Given the description of an element on the screen output the (x, y) to click on. 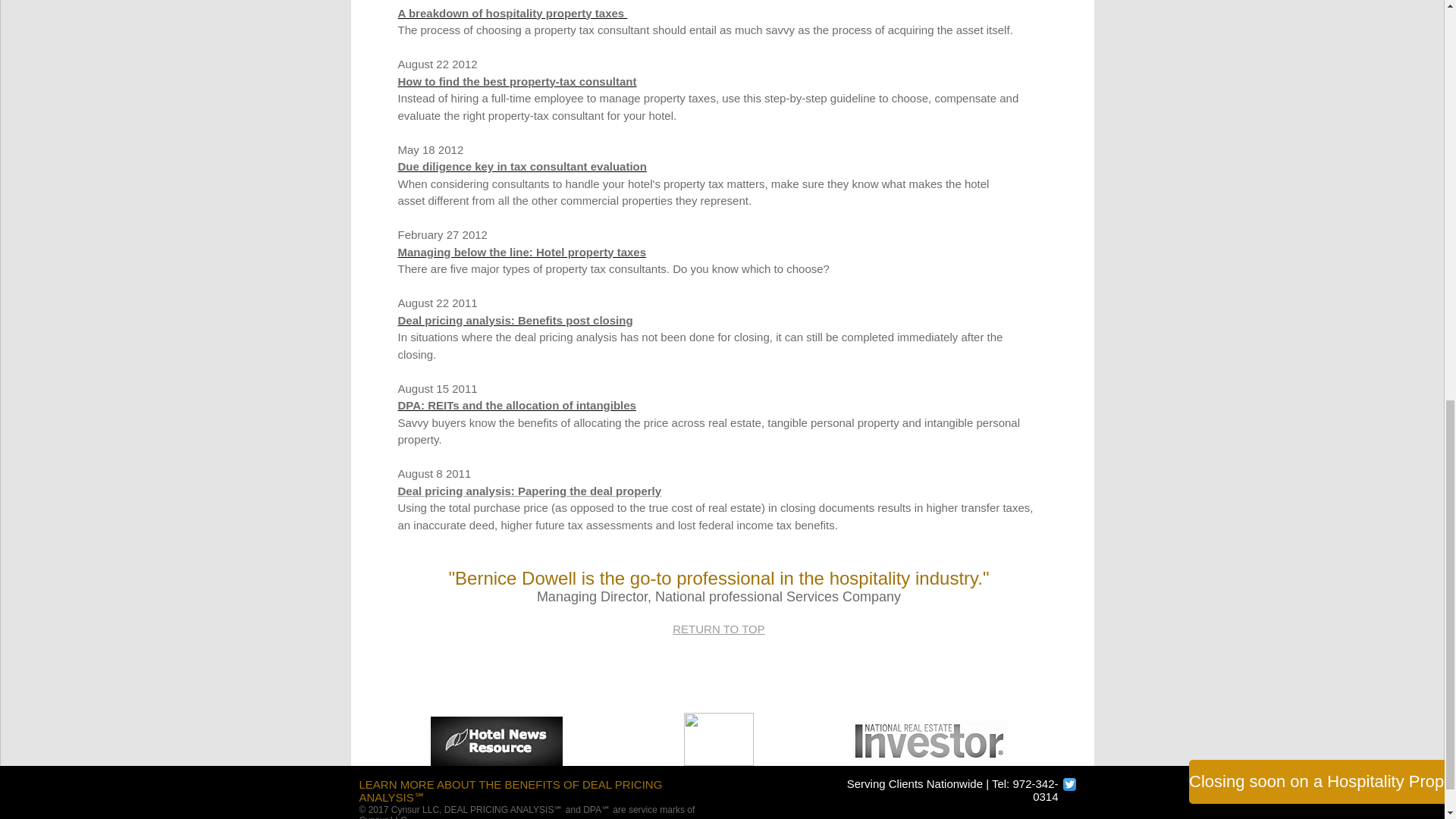
Deal pricing analysis: Papering the deal properly (529, 490)
A breakdown of hospitality property taxes  (512, 11)
How to find the best property-tax consultant (516, 80)
DPA: REITs and the allocation of intangibles (515, 404)
RETURN TO TOP (718, 628)
Due diligence key in tax consultant evaluation (521, 165)
Managing below the line: Hotel property taxes (521, 251)
Deal pricing analysis: Benefits post closing (514, 319)
